Given the description of an element on the screen output the (x, y) to click on. 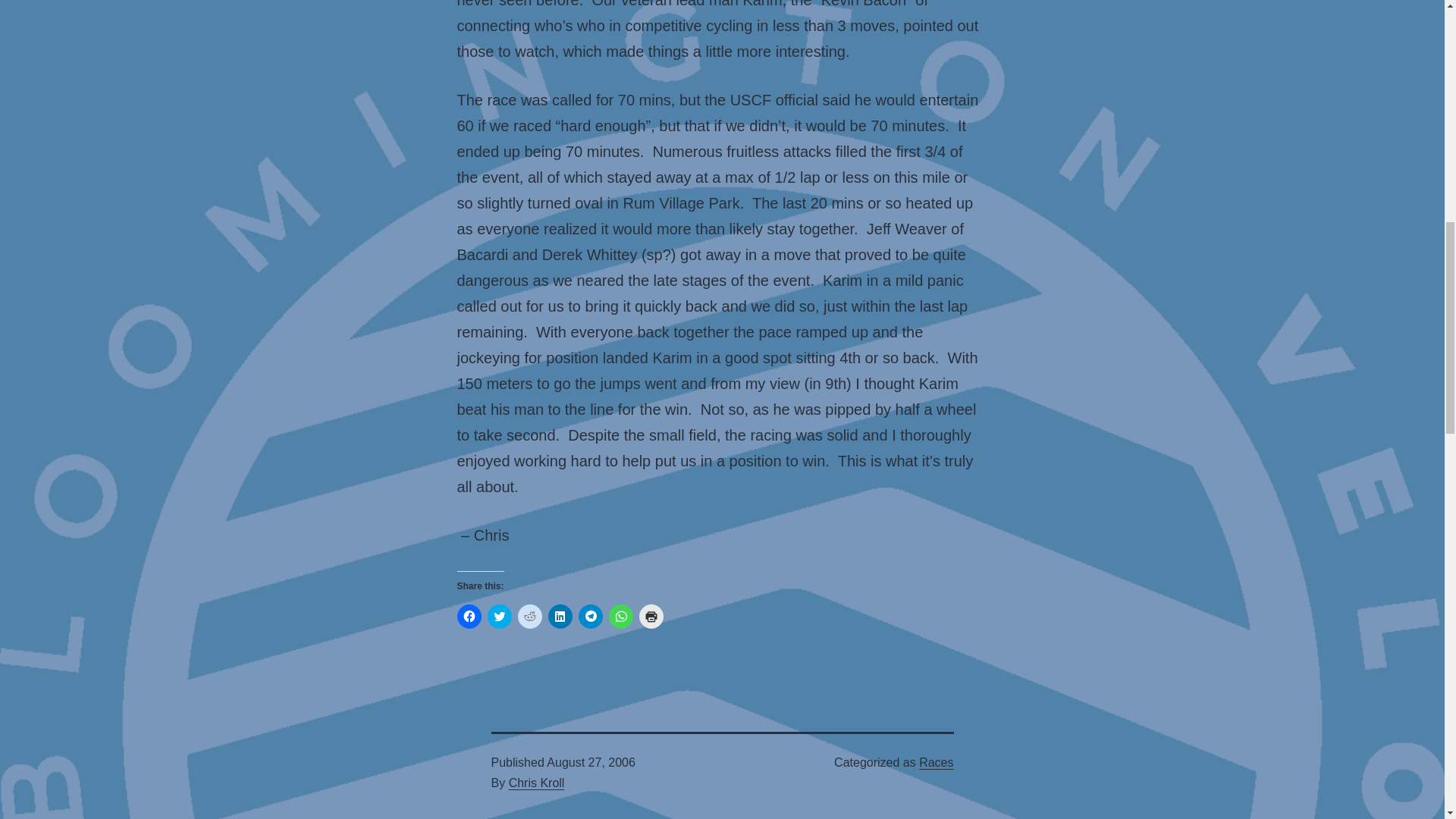
Races (935, 762)
Click to share on Facebook (468, 616)
Chris Kroll (536, 782)
Click to share on LinkedIn (559, 616)
Click to share on Telegram (590, 616)
Click to share on Twitter (498, 616)
Click to print (650, 616)
Click to share on WhatsApp (619, 616)
Click to share on Reddit (528, 616)
